Given the description of an element on the screen output the (x, y) to click on. 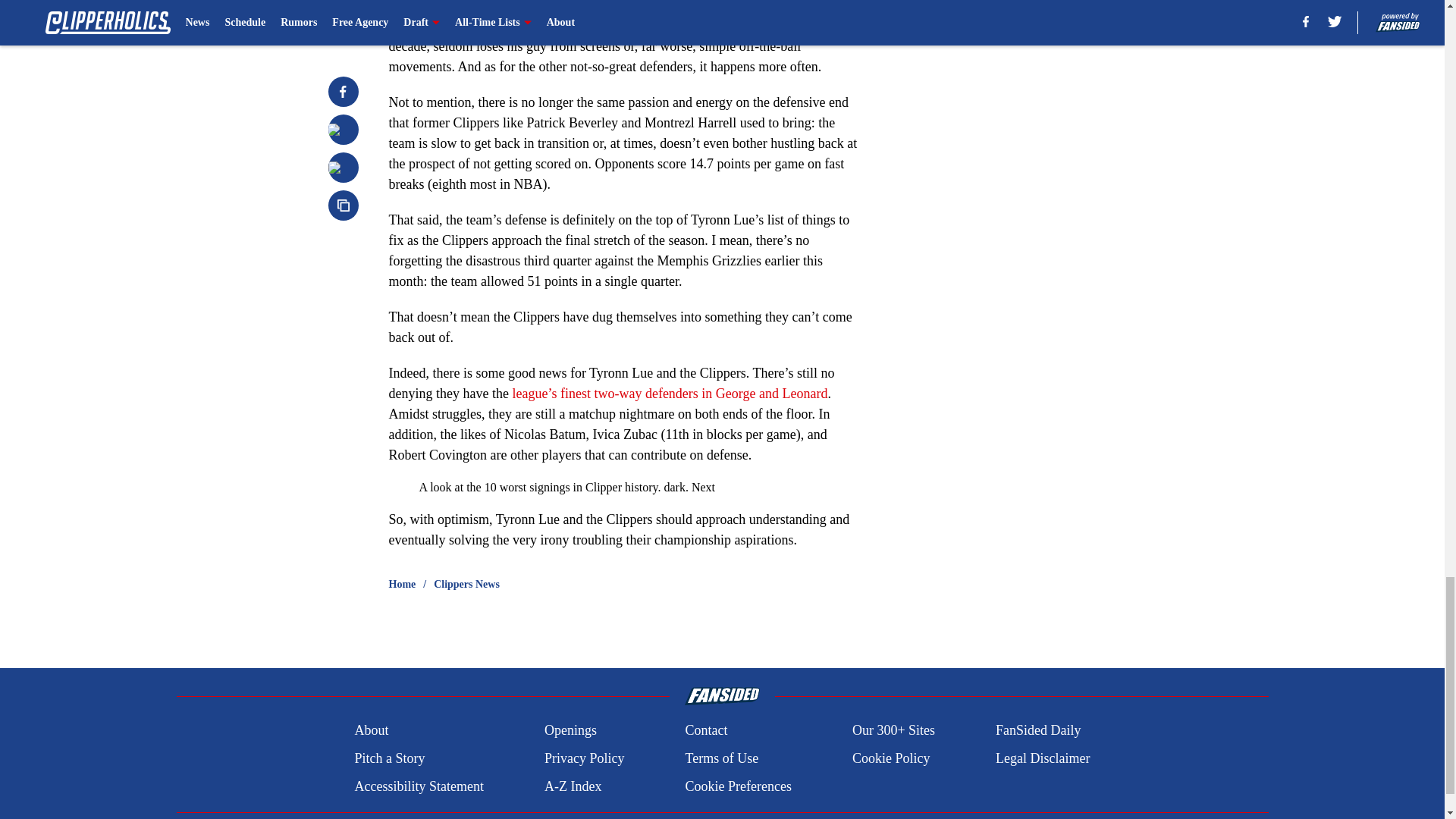
Terms of Use (721, 758)
Pitch a Story (389, 758)
Openings (570, 730)
About (370, 730)
FanSided Daily (1038, 730)
Contact (705, 730)
Privacy Policy (584, 758)
Home (401, 584)
Clippers News (466, 584)
